Given the description of an element on the screen output the (x, y) to click on. 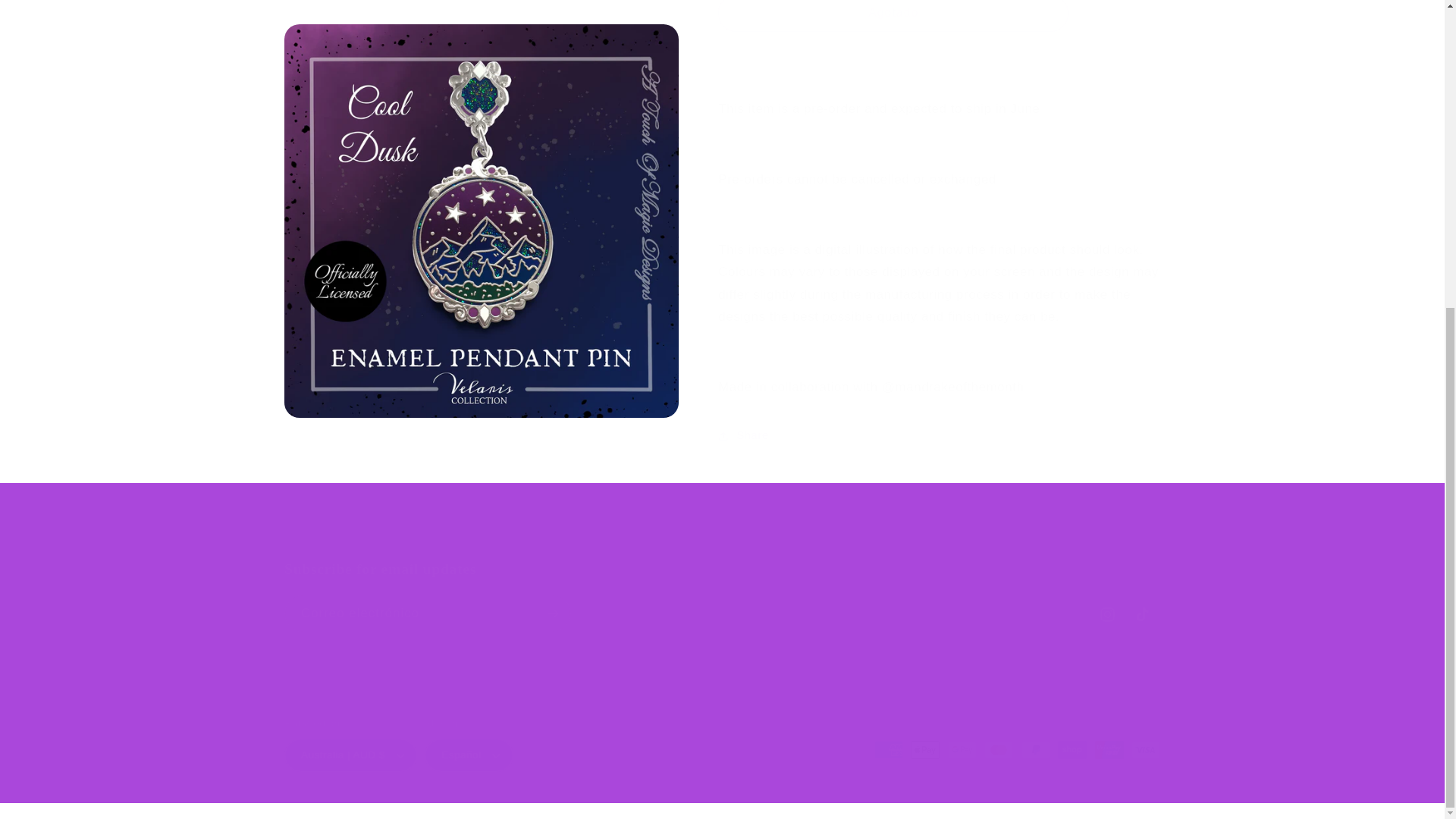
Abrir elemento multimedia 1 en una ventana modal (480, 48)
